Given the description of an element on the screen output the (x, y) to click on. 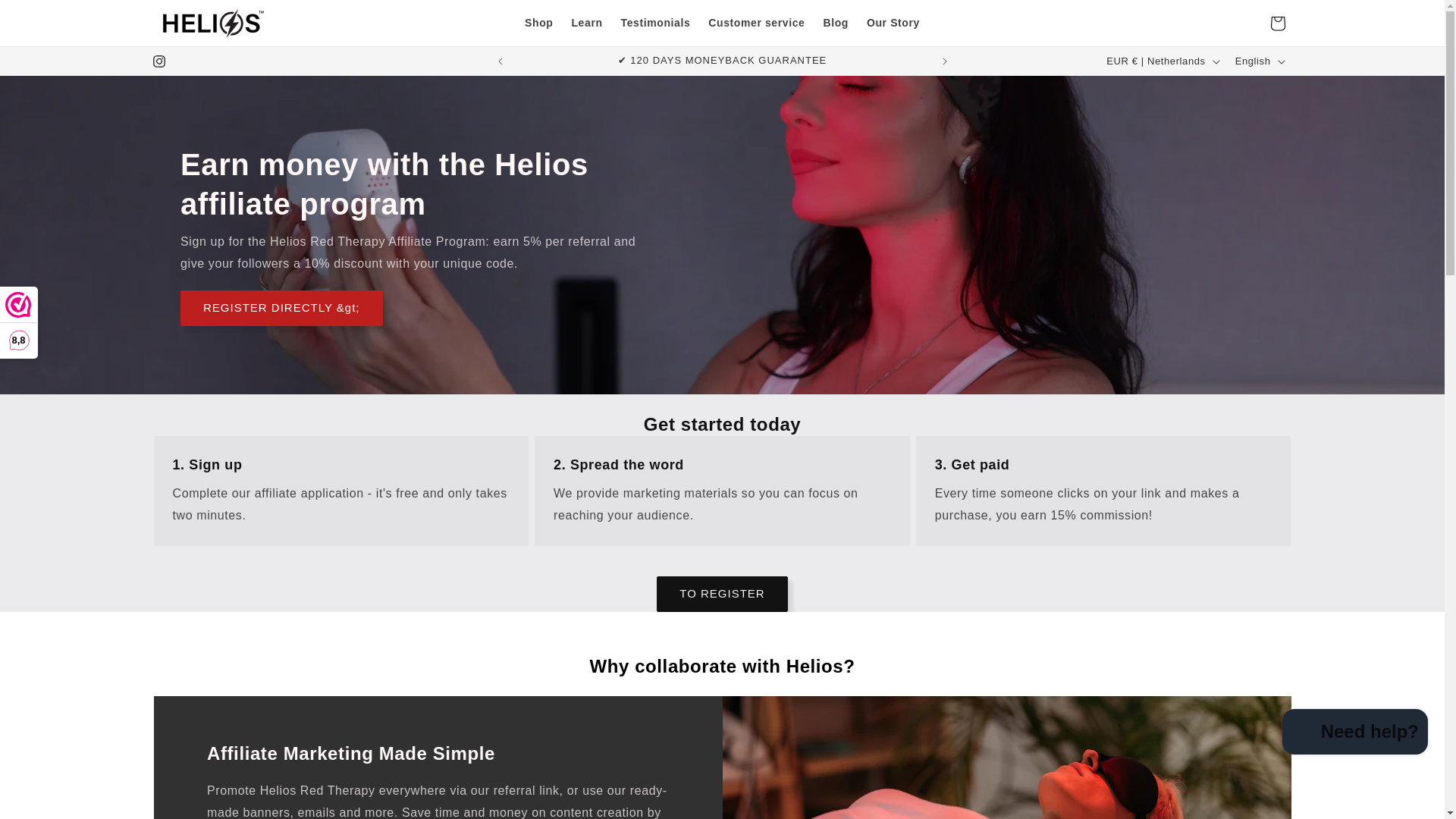
TO REGISTER (721, 593)
Shop (538, 22)
Blog (835, 22)
Customer service (755, 22)
Testimonials (655, 22)
Skip to content (45, 17)
Our Story (892, 22)
English (1258, 61)
Learn (586, 22)
Cart (1277, 22)
